Given the description of an element on the screen output the (x, y) to click on. 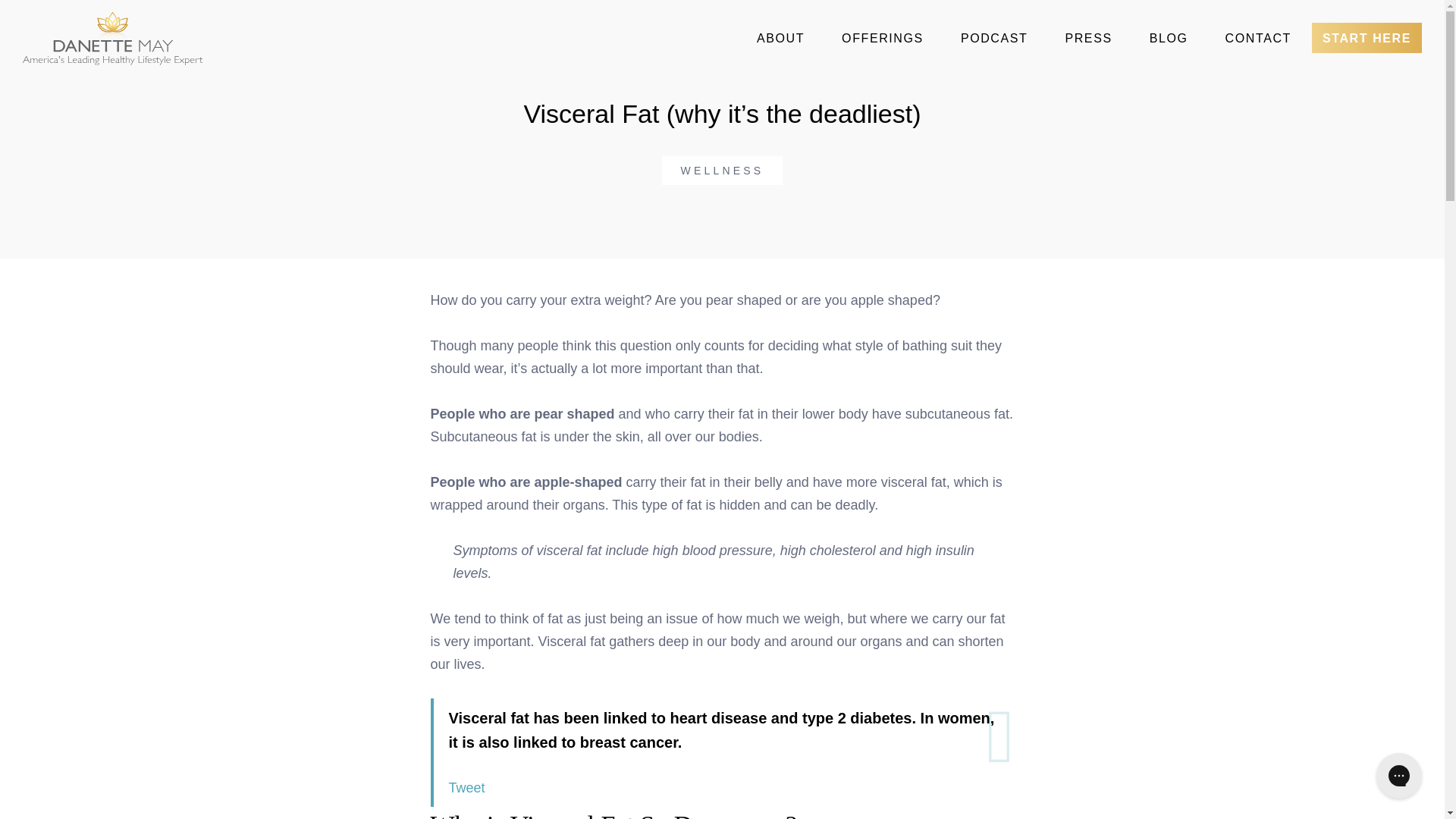
BLOG (1168, 38)
ABOUT (780, 38)
CONTACT (1257, 38)
START HERE (1366, 37)
WELLNESS (722, 170)
Gorgias live chat messenger (1398, 775)
PODCAST (994, 38)
Tweet (466, 787)
PRESS (1088, 38)
OFFERINGS (882, 38)
